Given the description of an element on the screen output the (x, y) to click on. 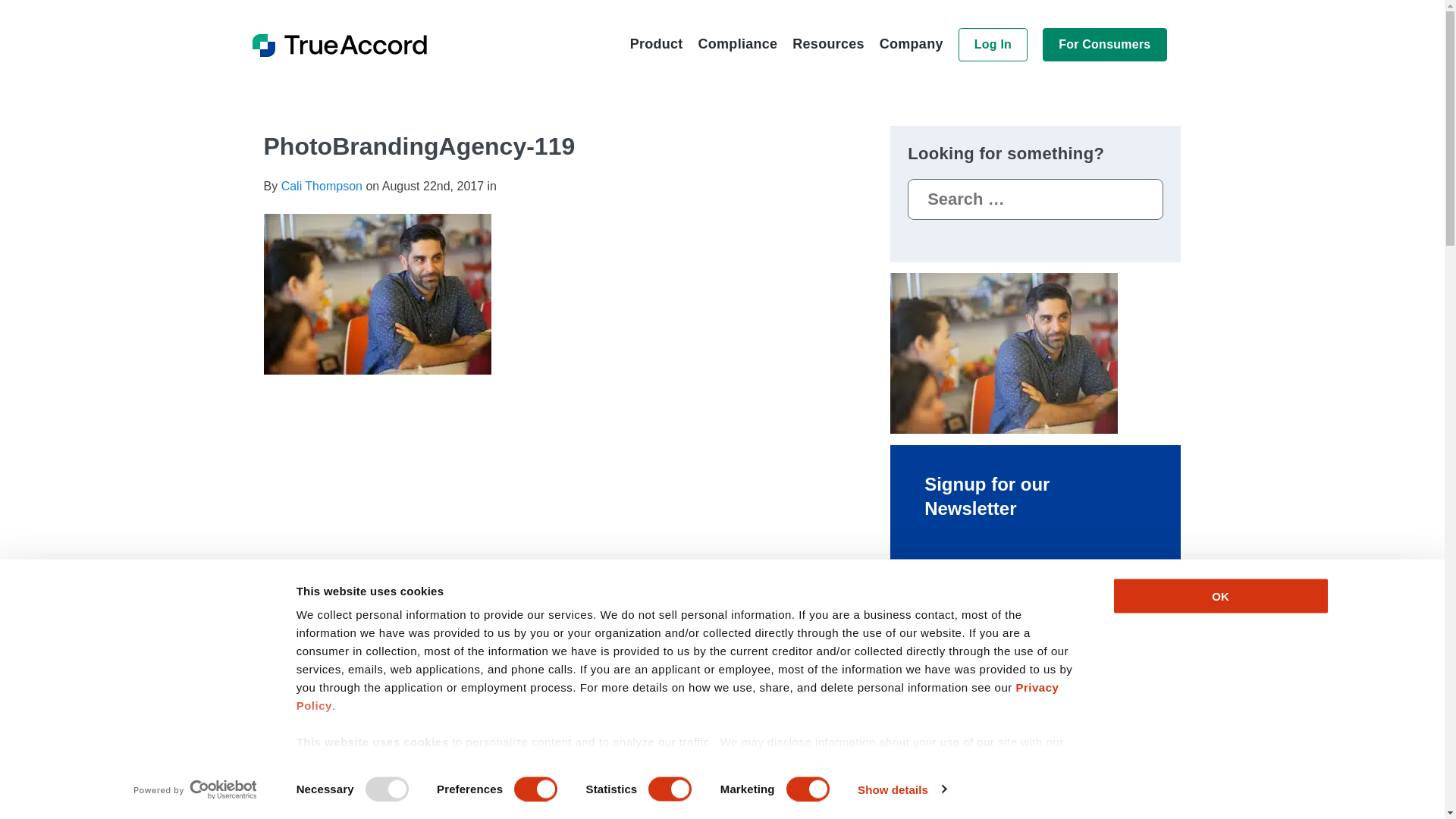
Show details (900, 789)
Privacy Policy (678, 695)
